Given the description of an element on the screen output the (x, y) to click on. 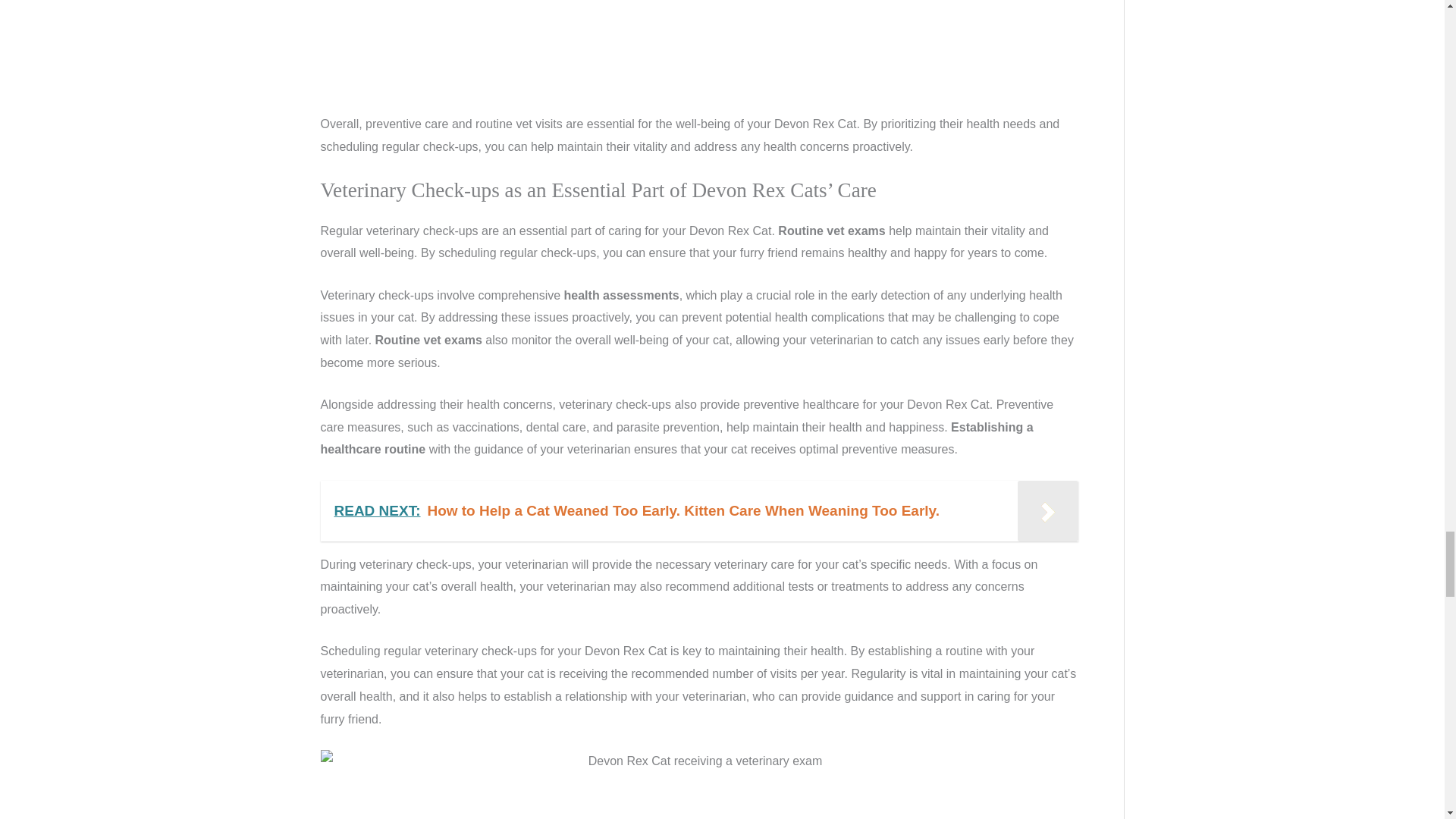
Devon Rex Cat receiving a veterinary exam (698, 784)
Veterinary Check-up for Devon Rex Cat (698, 56)
